Given the description of an element on the screen output the (x, y) to click on. 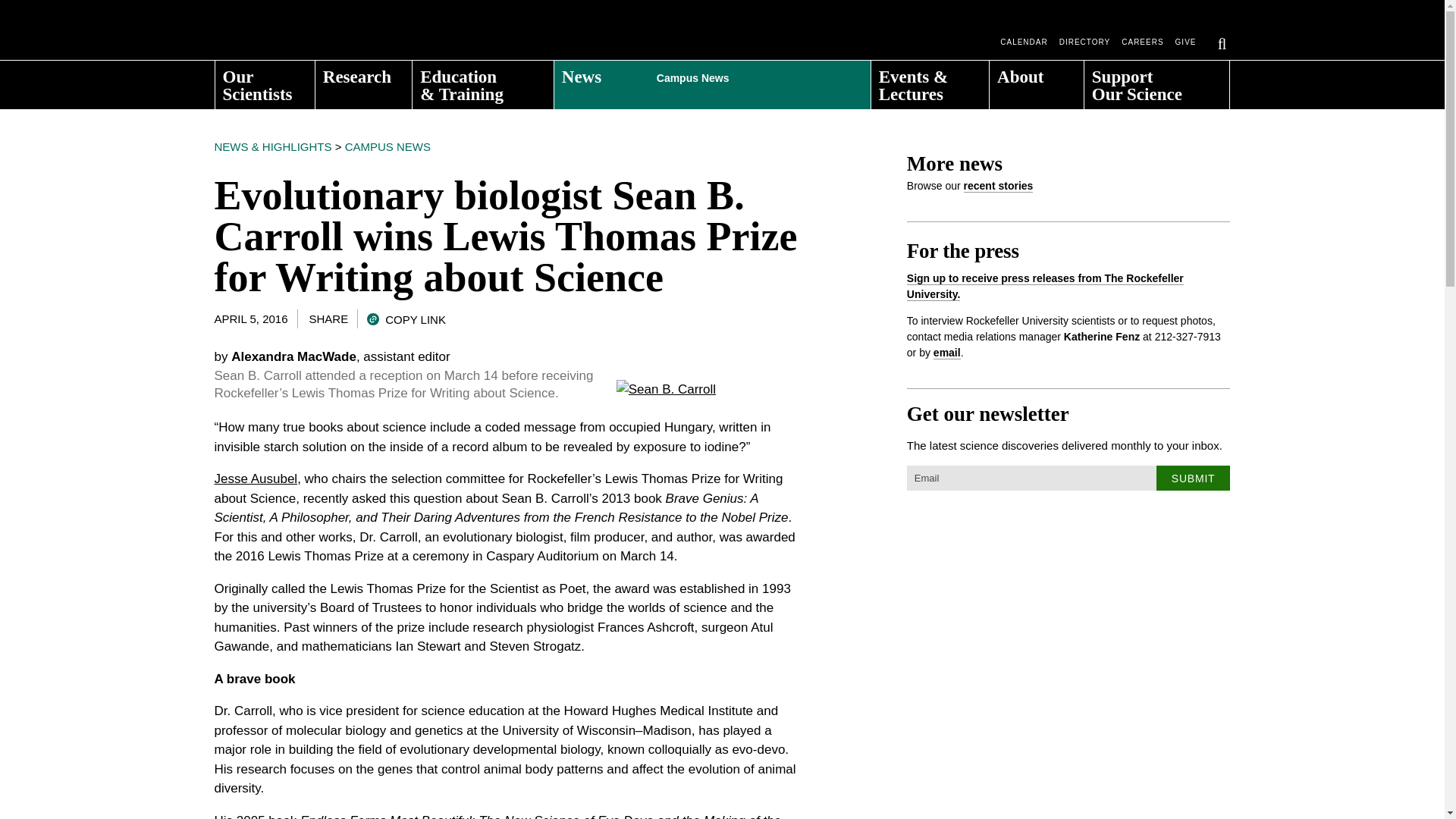
News (712, 80)
Our Scientists (264, 80)
Submit (1193, 478)
Research (363, 80)
Campus News (740, 74)
